Given the description of an element on the screen output the (x, y) to click on. 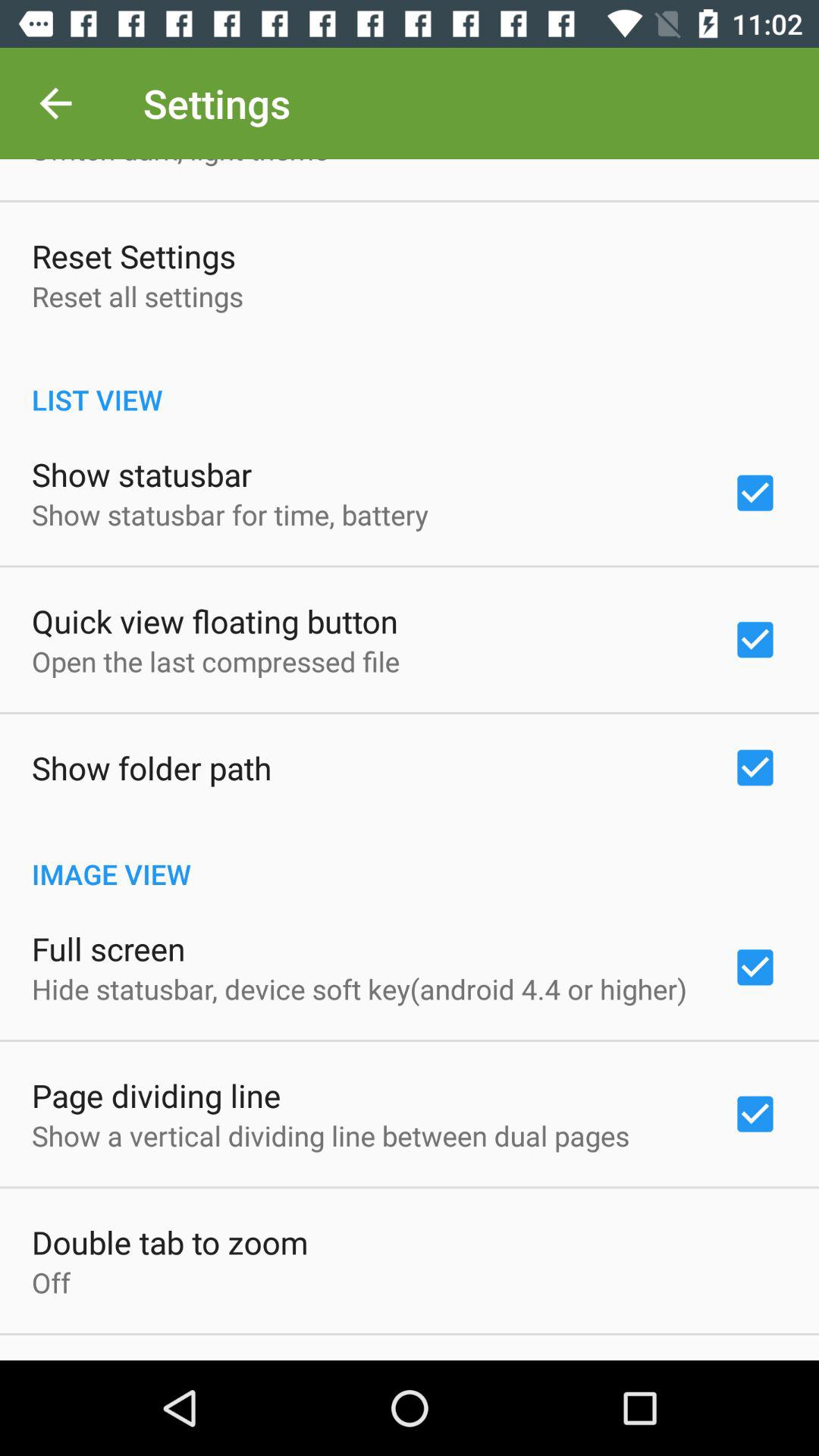
turn off the item below the double tab to item (50, 1282)
